Given the description of an element on the screen output the (x, y) to click on. 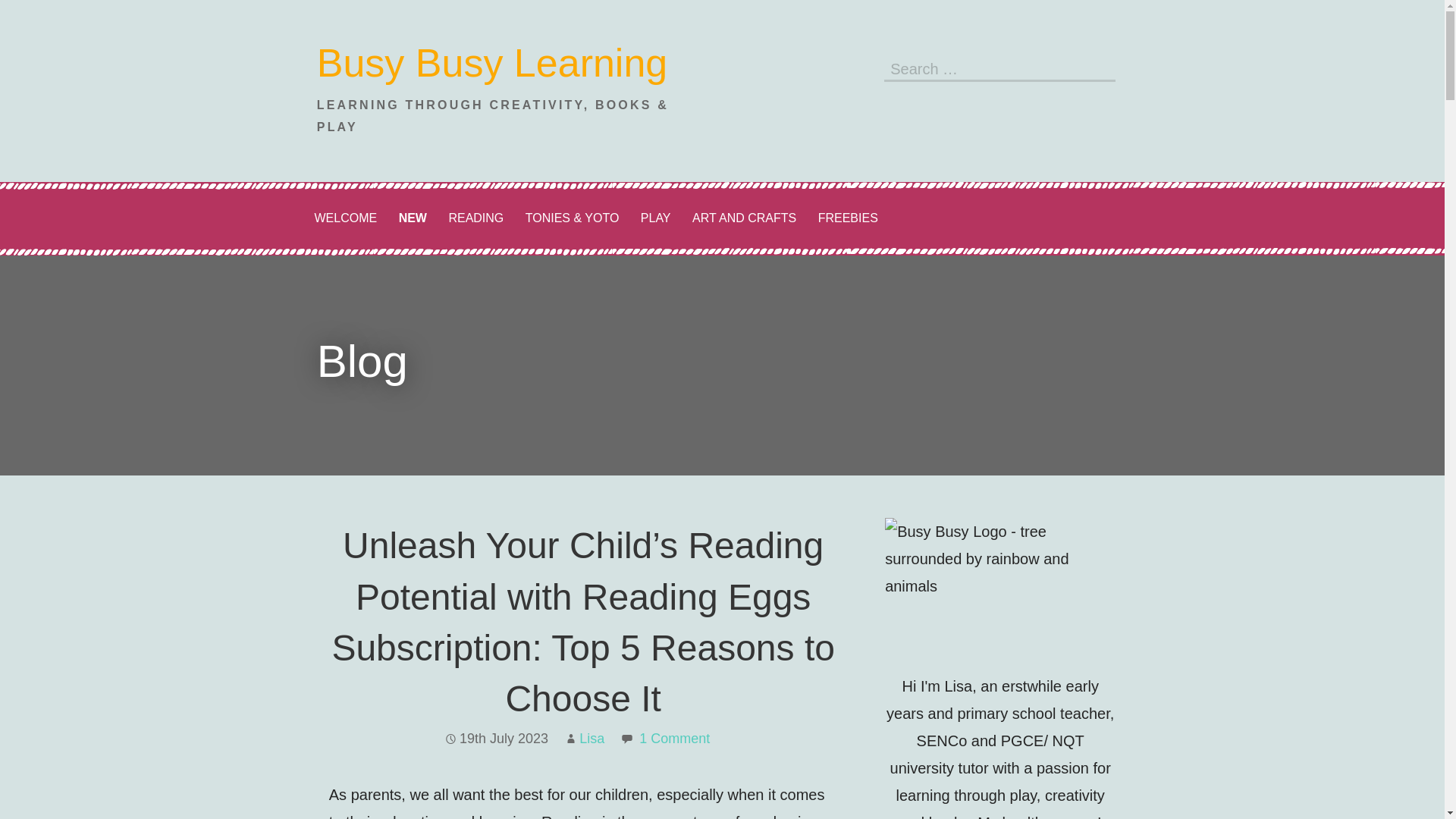
Search (1099, 67)
Search (1099, 67)
Search (1099, 67)
1 Comment (674, 738)
WELCOME (344, 218)
FREEBIES (847, 218)
Posts by Lisa (591, 738)
ART AND CRAFTS (743, 218)
Lisa (591, 738)
READING (475, 218)
Busy Busy Learning (492, 62)
